Given the description of an element on the screen output the (x, y) to click on. 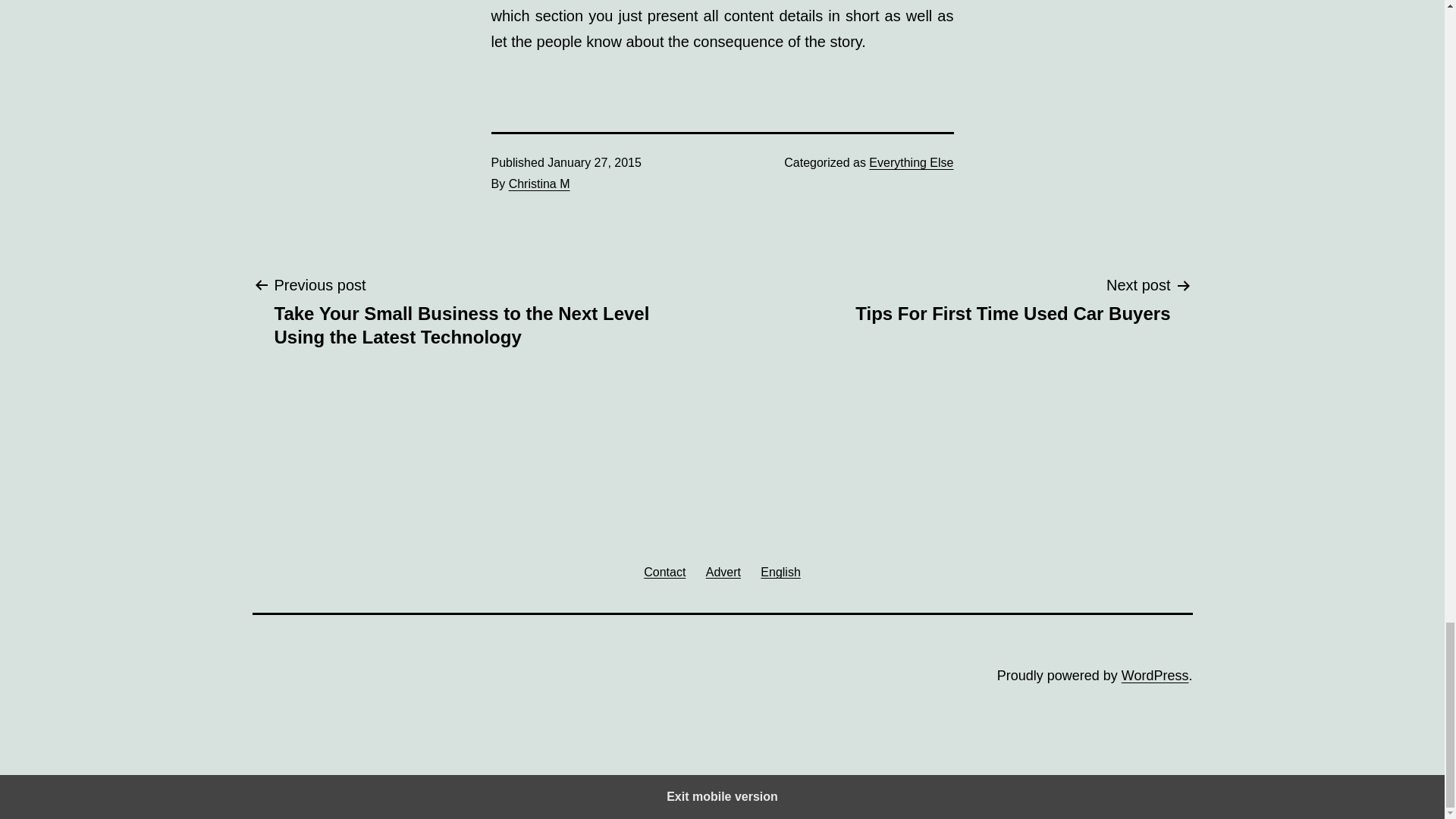
WordPress (1155, 675)
Advert (723, 571)
English (780, 571)
Christina M (539, 183)
Everything Else (911, 162)
Contact (664, 571)
